Given the description of an element on the screen output the (x, y) to click on. 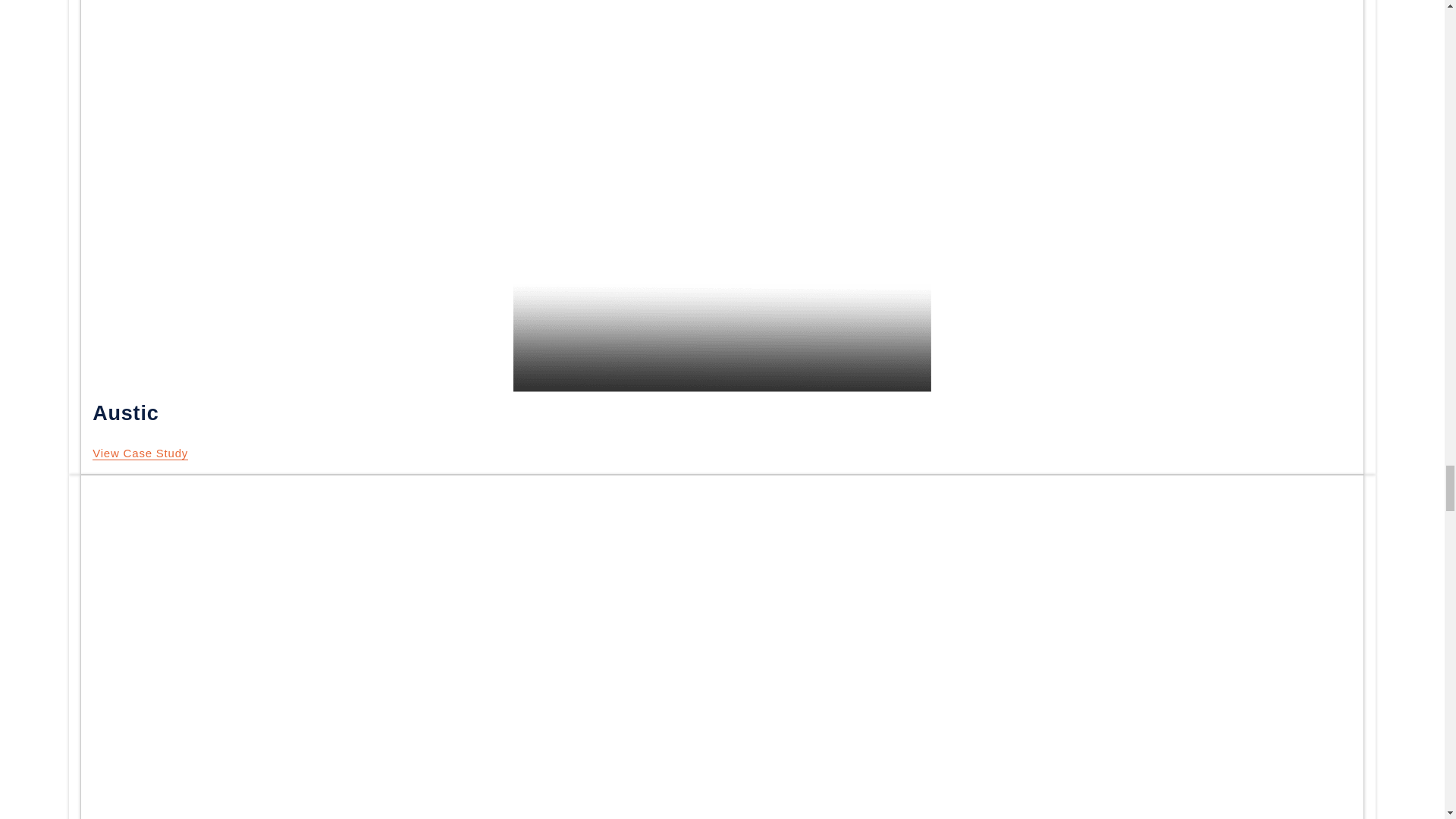
Austic (140, 453)
